Given the description of an element on the screen output the (x, y) to click on. 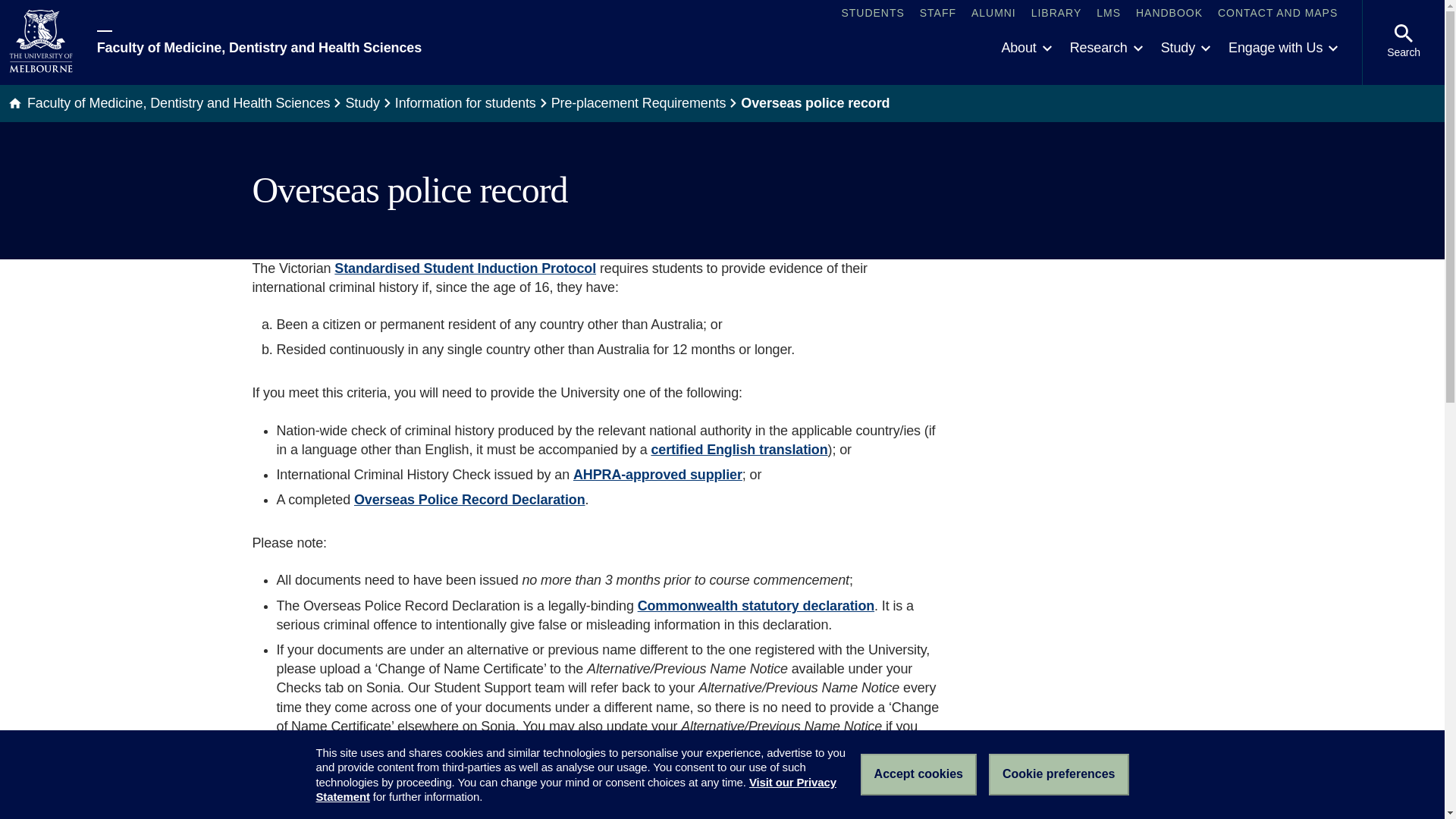
LIBRARY (1055, 13)
STUDENTS (872, 13)
Research (1106, 48)
LMS (1108, 13)
HANDBOOK (1168, 13)
STAFF (938, 13)
Faculty of Medicine, Dentistry and Health Sciences (259, 42)
Study (1185, 48)
About (1025, 48)
CONTACT AND MAPS (1277, 13)
ALUMNI (993, 13)
